Given the description of an element on the screen output the (x, y) to click on. 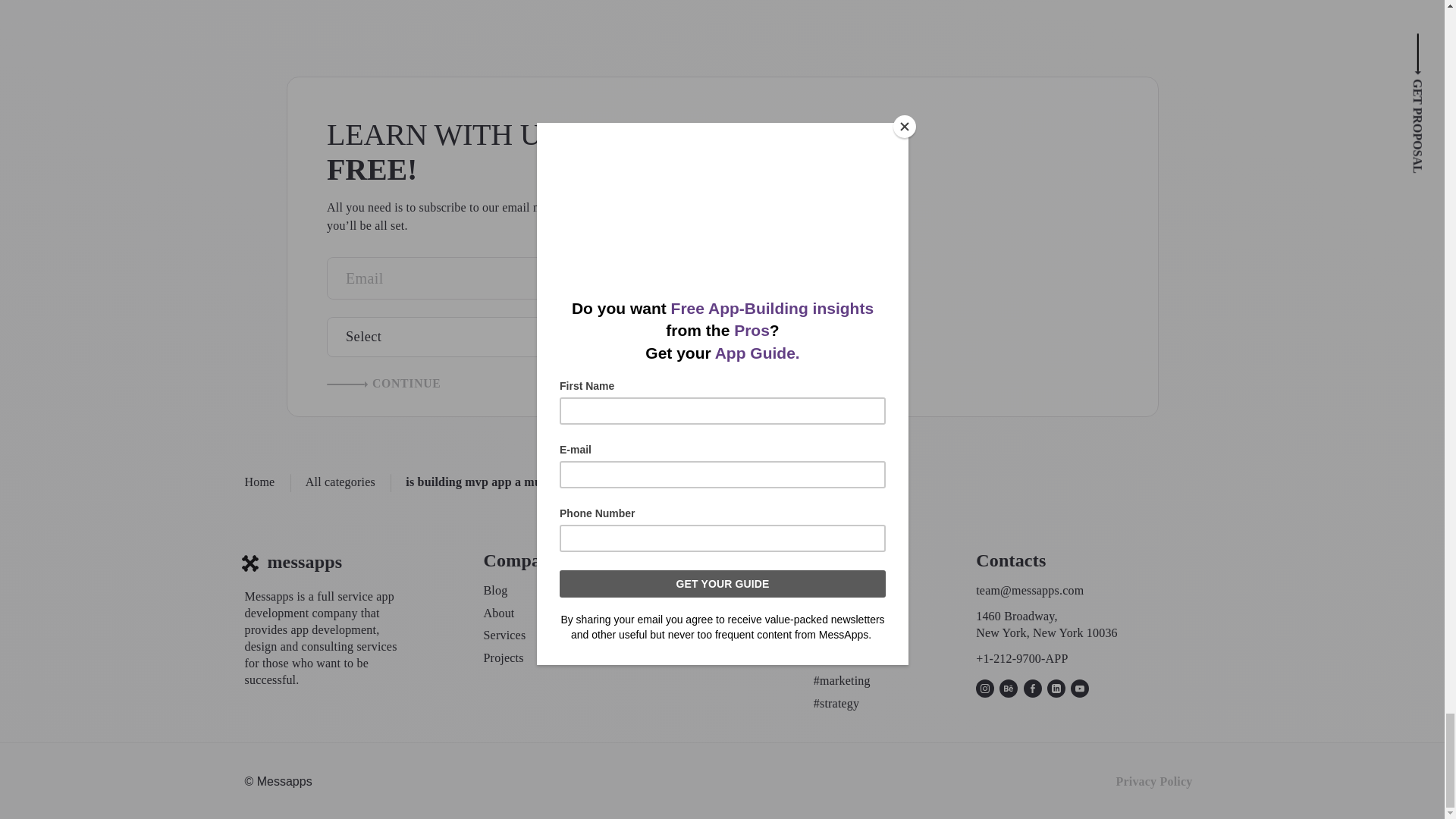
Share link on Instagram (984, 688)
Select (481, 336)
Share link on LinkedIn (1055, 688)
Share link on YouTube (1079, 688)
Share link on Facebook (1032, 688)
Share link on Behance (1007, 688)
